Given the description of an element on the screen output the (x, y) to click on. 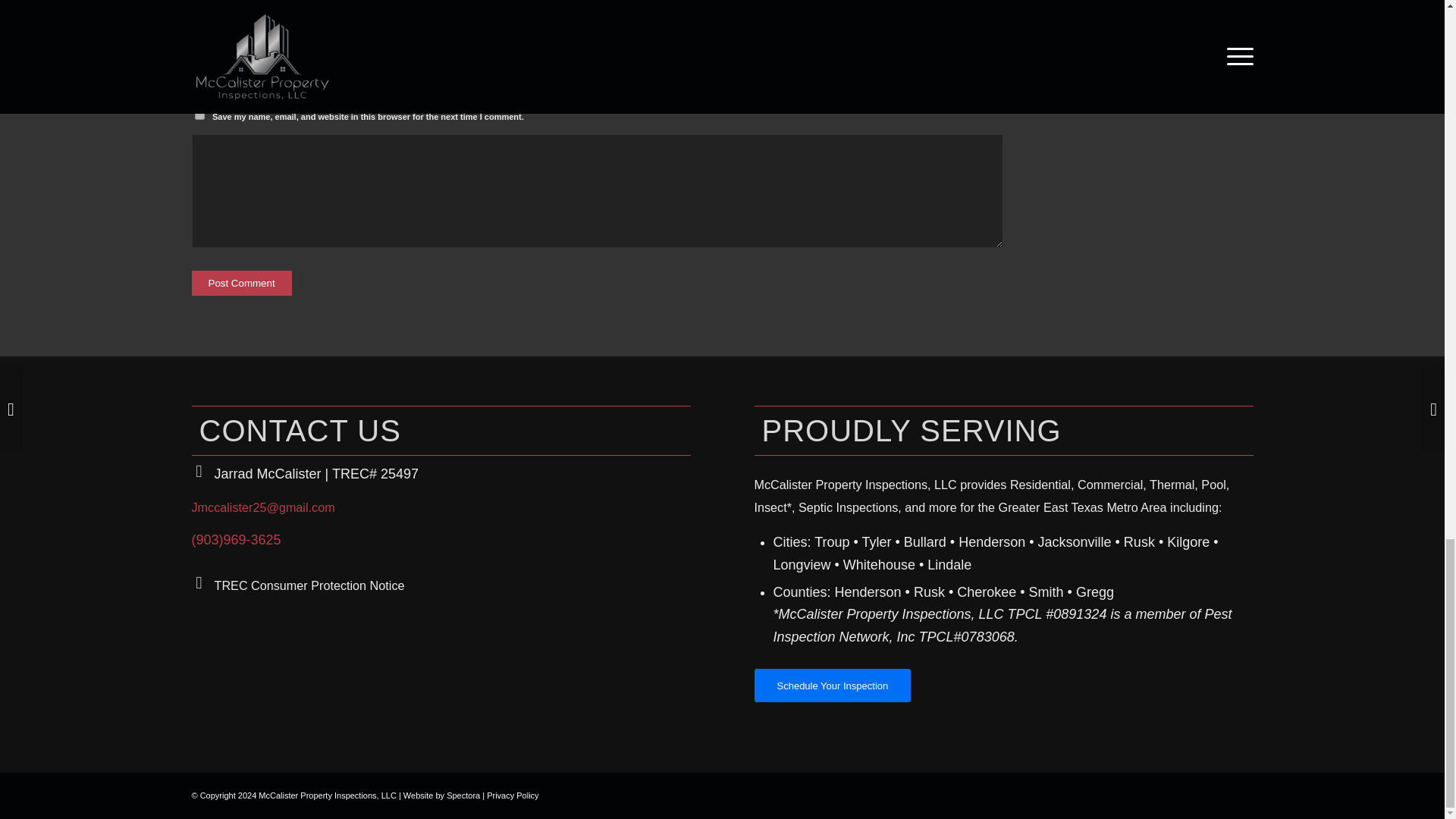
Post Comment (240, 283)
yes (198, 114)
Post Comment (240, 283)
